Given the description of an element on the screen output the (x, y) to click on. 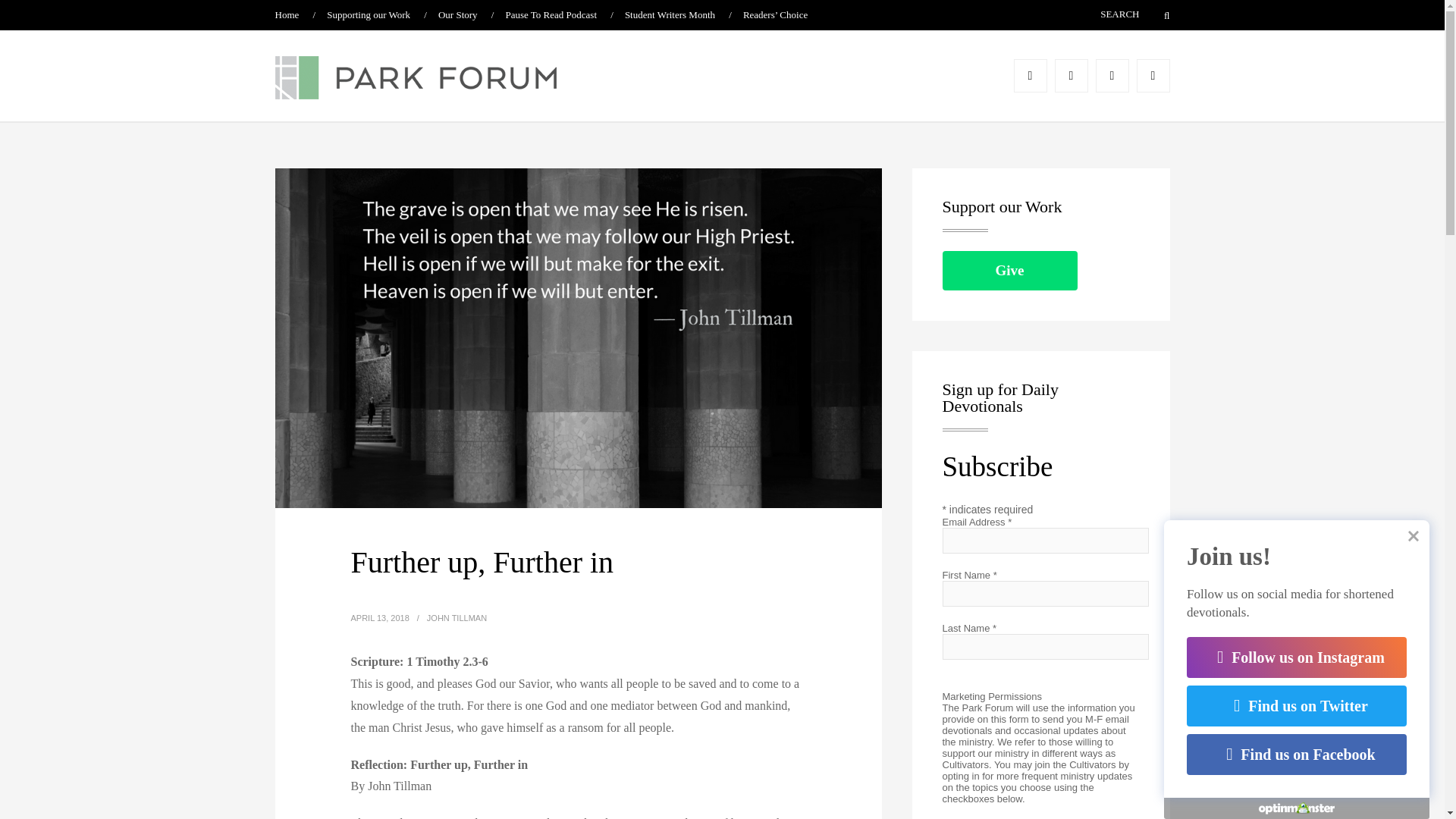
Close (1413, 535)
Home (286, 14)
Search (1158, 15)
SEARCH (1096, 14)
Pause To Read Podcast (550, 14)
Student Writers Month (669, 14)
Our Story (457, 14)
Supporting our Work (368, 14)
Follow us on Instagram (1296, 657)
